Given the description of an element on the screen output the (x, y) to click on. 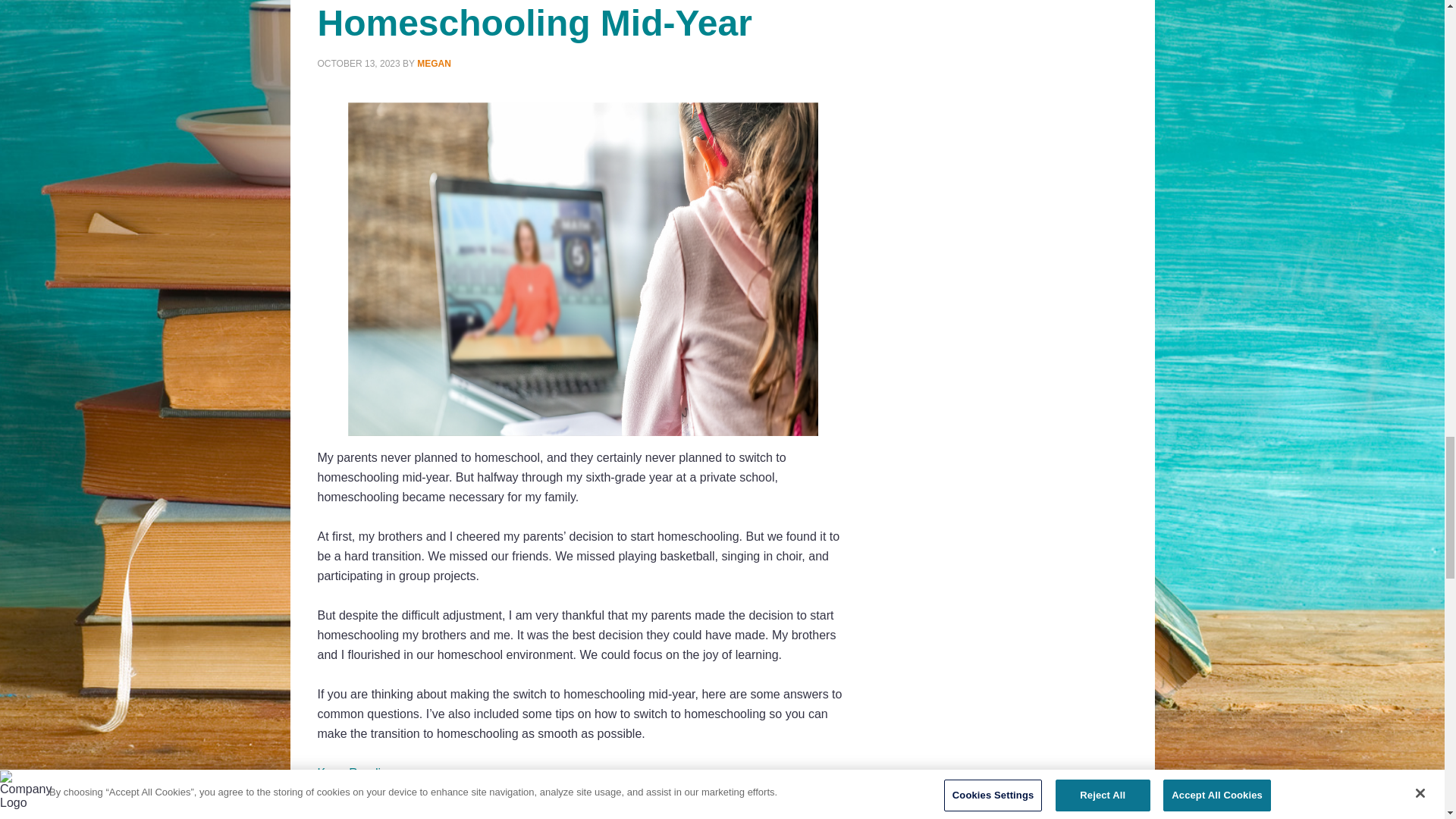
SUCCESSFUL LEARNING (438, 789)
MEGAN (433, 63)
Keep Reading (355, 772)
